Given the description of an element on the screen output the (x, y) to click on. 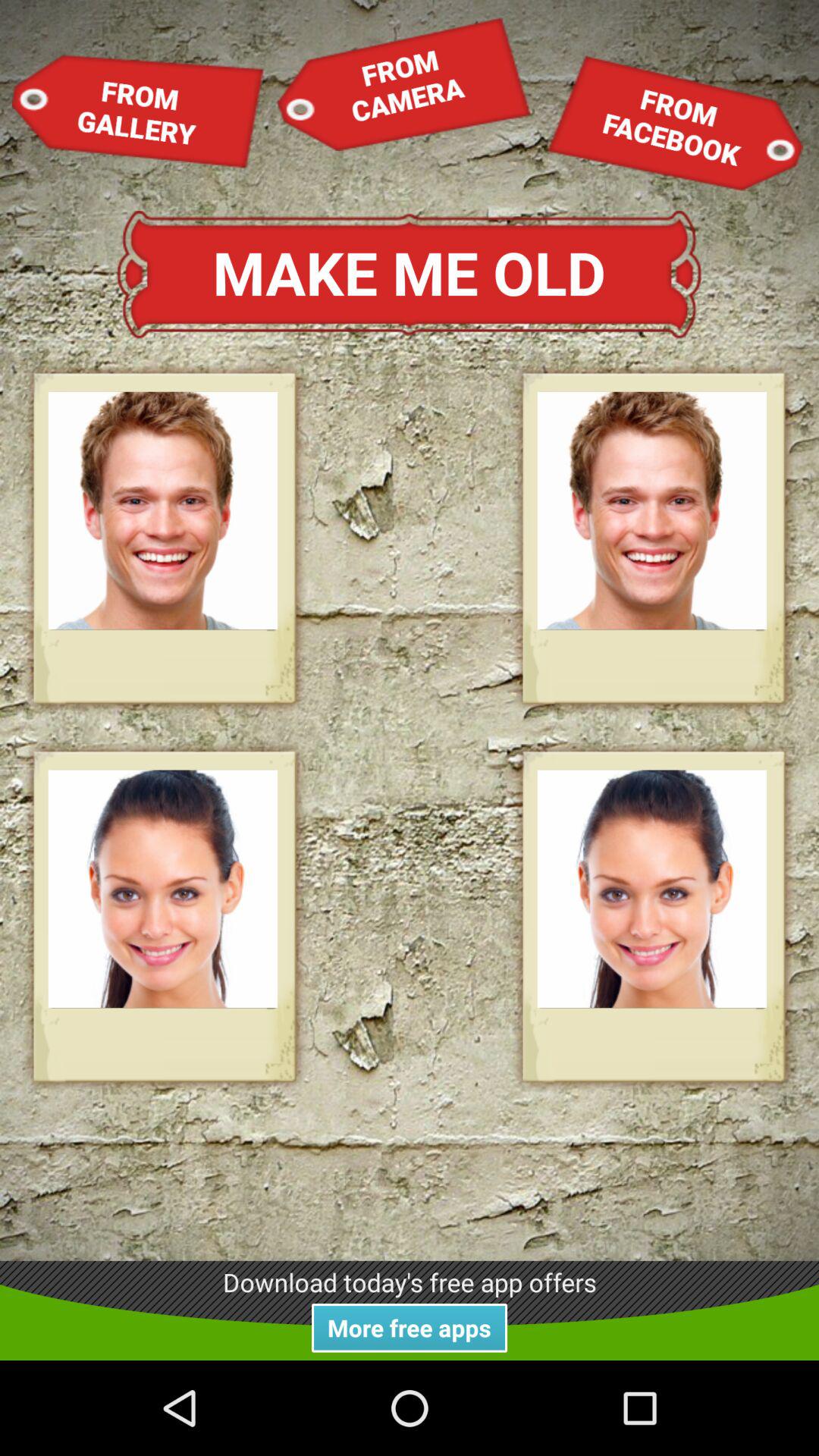
open from
camera icon (403, 83)
